Given the description of an element on the screen output the (x, y) to click on. 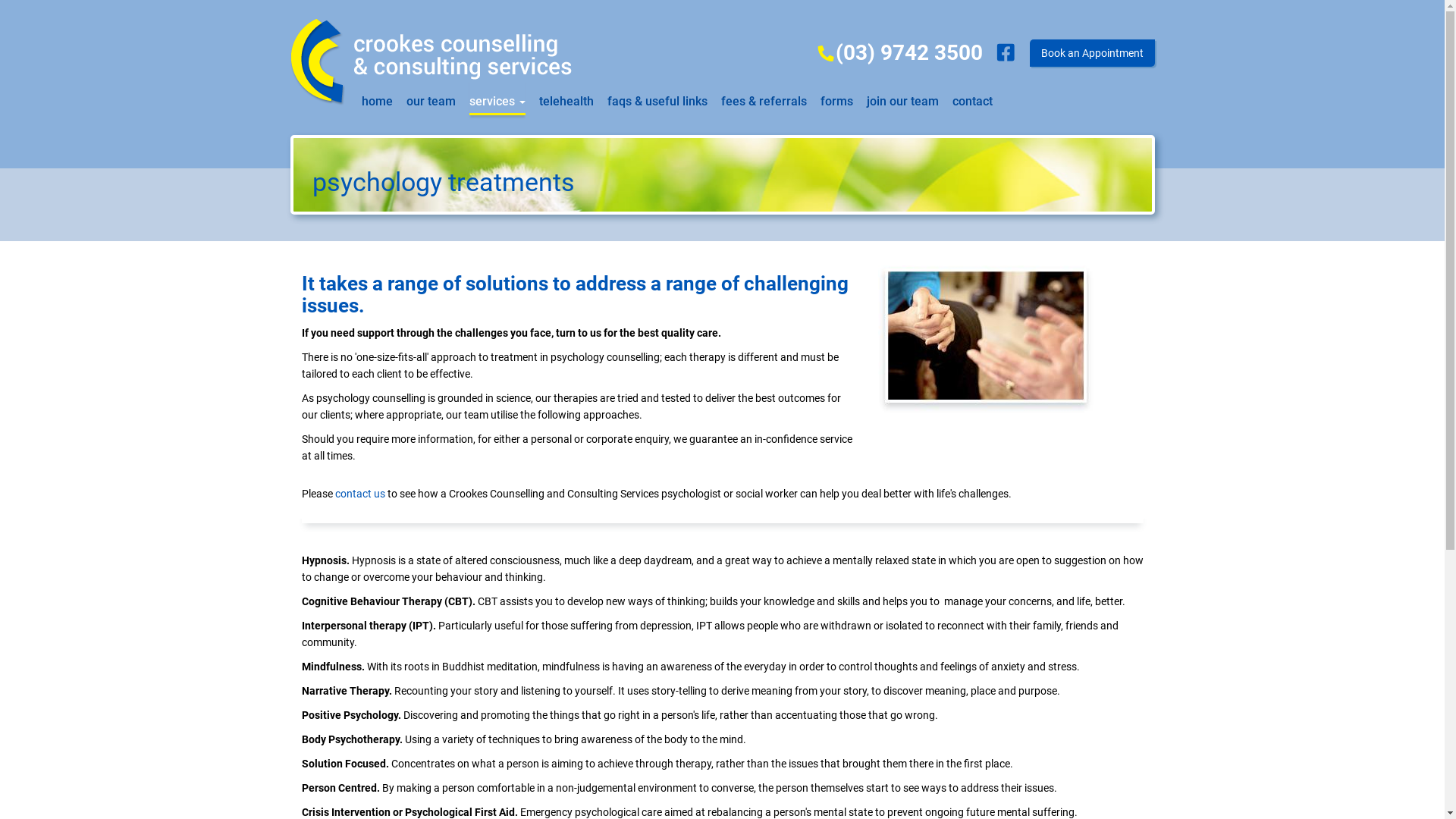
home Element type: text (376, 96)
faqs & useful links Element type: text (656, 96)
contact us Element type: text (360, 493)
forms Element type: text (836, 96)
contact Element type: text (972, 96)
Book an Appointment Element type: text (1091, 52)
join our team Element type: text (902, 96)
(03) 9742 3500 Element type: text (898, 52)
our team Element type: text (430, 96)
fees & referrals Element type: text (763, 96)
services Element type: text (496, 96)
telehealth Element type: text (565, 96)
